Given the description of an element on the screen output the (x, y) to click on. 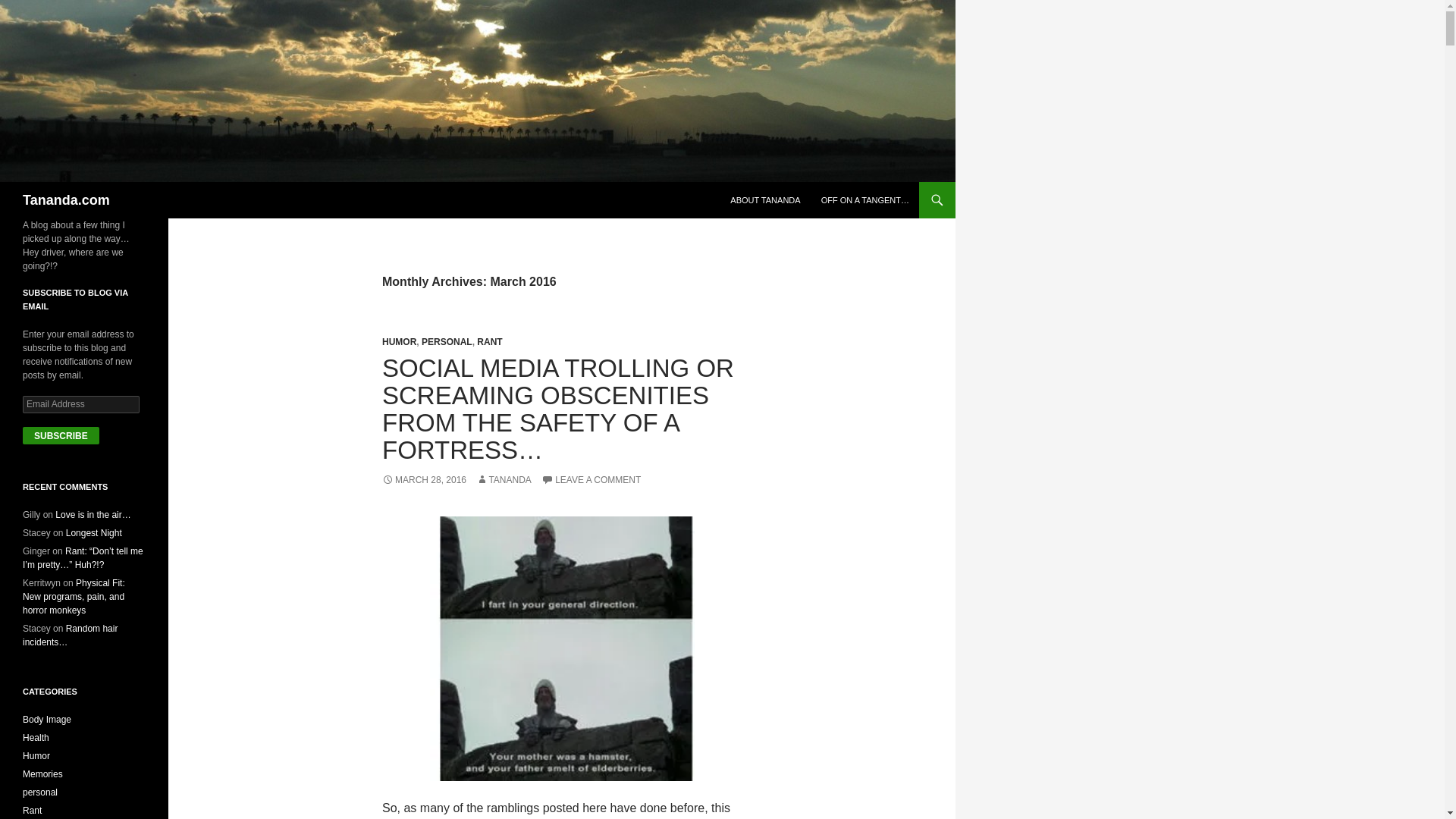
RANT (489, 341)
ABOUT TANANDA (764, 199)
MARCH 28, 2016 (423, 480)
PERSONAL (446, 341)
Tananda.com (66, 199)
HUMOR (398, 341)
LEAVE A COMMENT (590, 480)
TANANDA (503, 480)
